Given the description of an element on the screen output the (x, y) to click on. 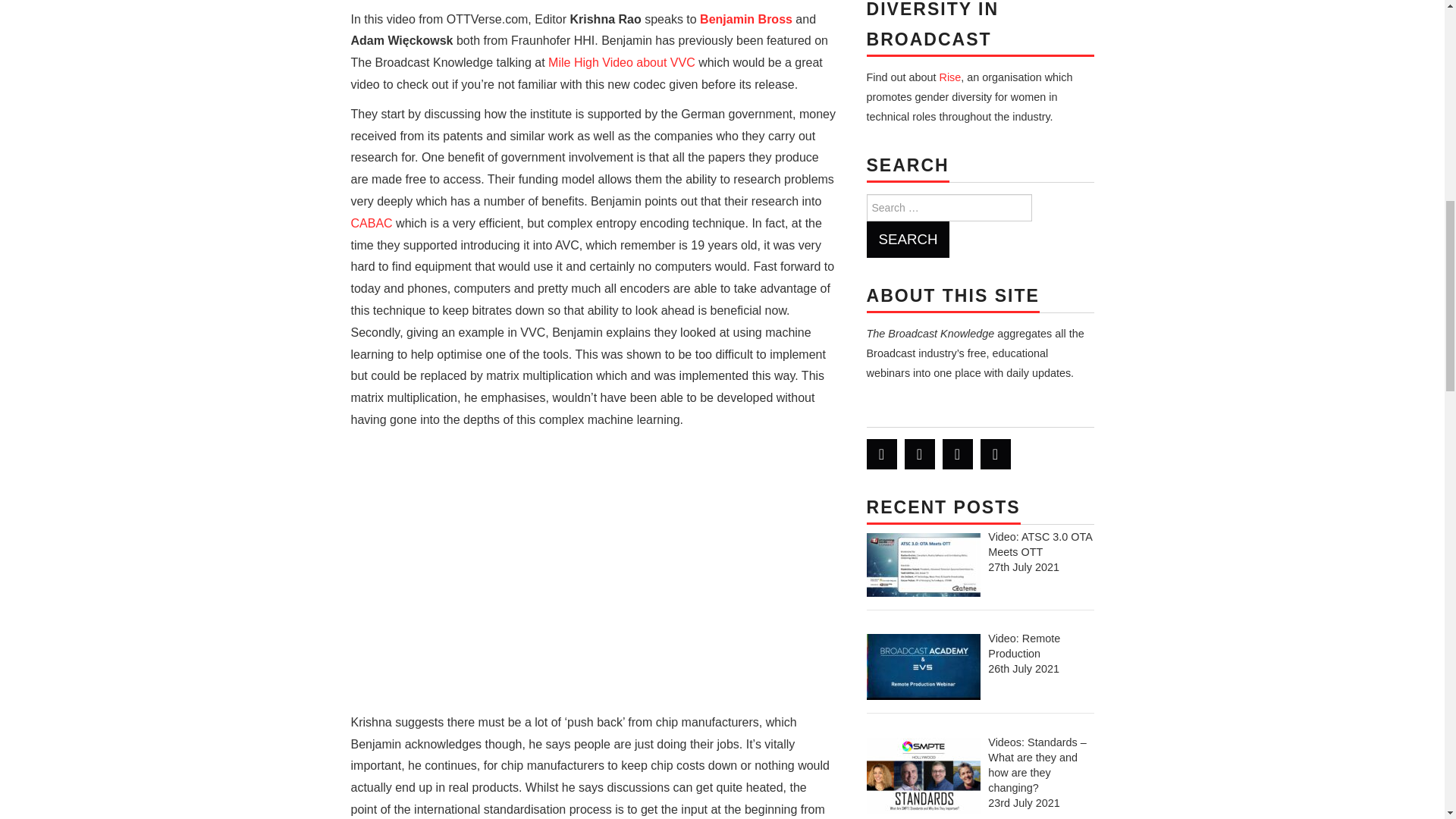
Mile High Video about VVC (623, 62)
Search (907, 239)
Facebook (919, 453)
Twitter (881, 453)
Benjamin Bross (746, 19)
YouTube player (592, 574)
CABAC (370, 223)
Search for: (948, 207)
Search (907, 239)
